Given the description of an element on the screen output the (x, y) to click on. 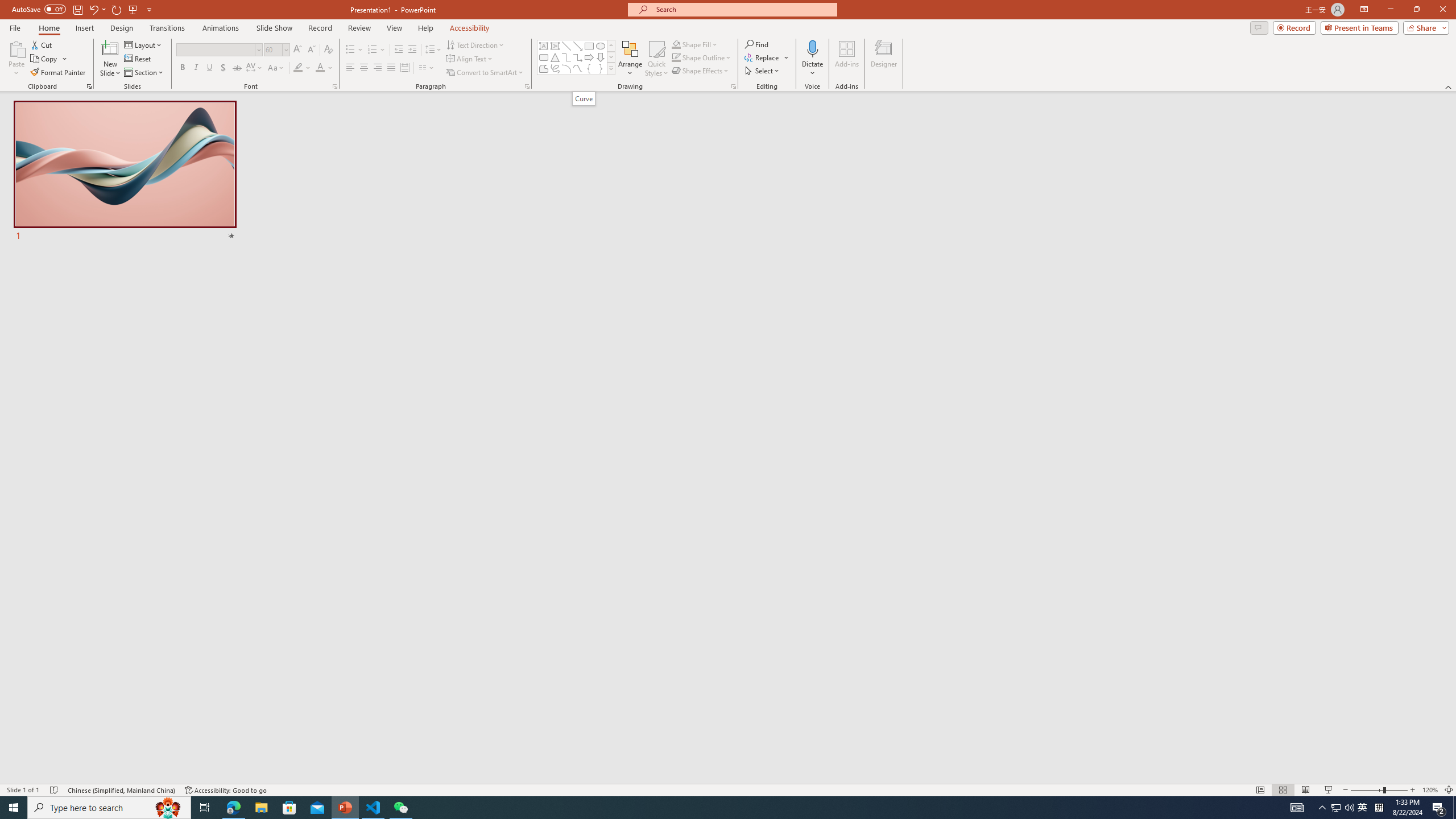
Zoom 120% (1430, 790)
